Given the description of an element on the screen output the (x, y) to click on. 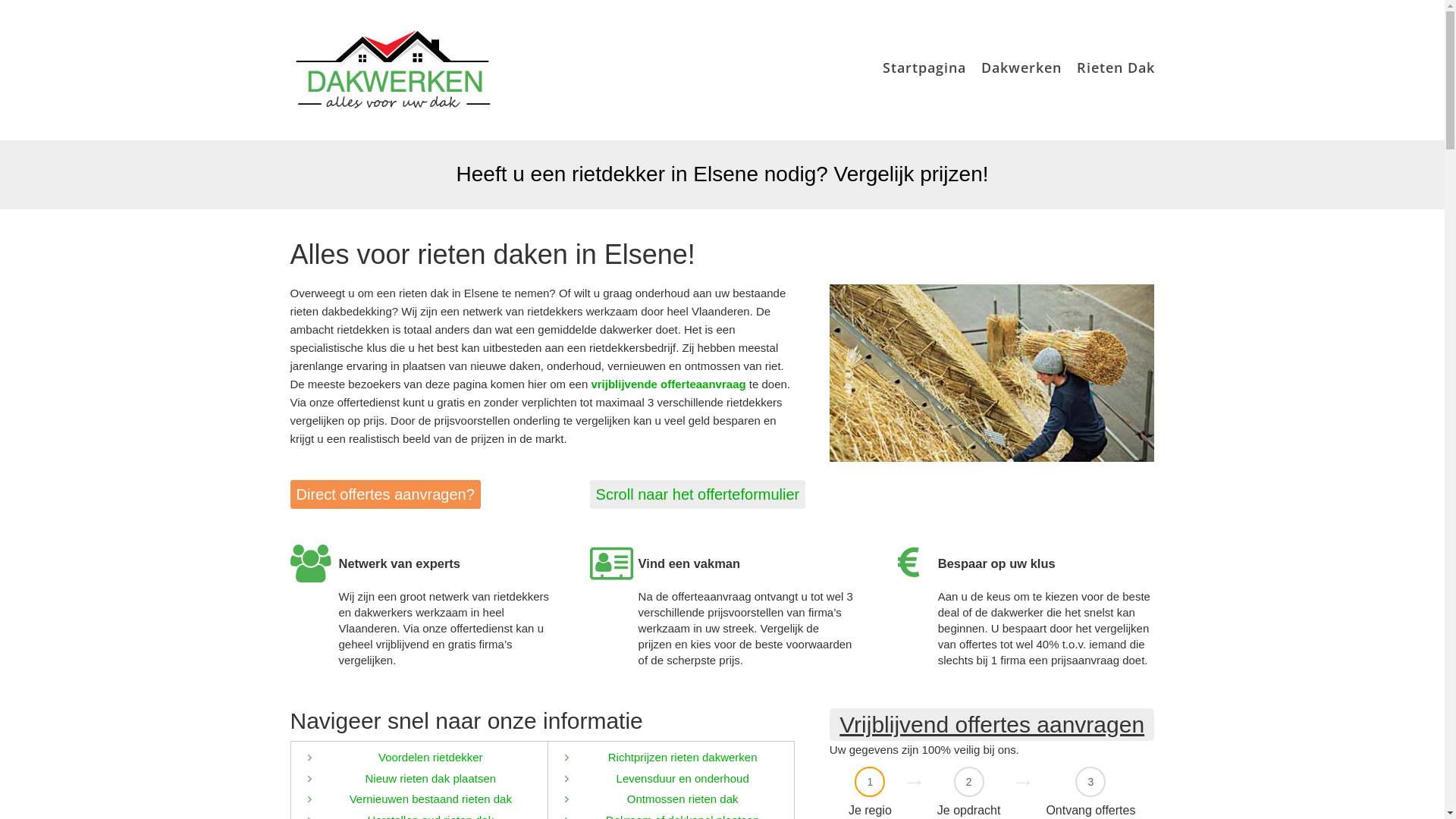
Nieuw rieten dak plaatsen Element type: text (429, 777)
Scroll naar het offerteformulier Element type: text (698, 494)
Dakwerken Element type: text (1021, 67)
Levensduur en onderhoud Element type: text (682, 777)
Vernieuwen bestaand rieten dak Element type: text (430, 798)
Voordelen rietdekker Element type: text (430, 756)
vrijblijvende offerteaanvraag Element type: text (667, 383)
Ontmossen rieten dak Element type: text (682, 798)
Startpagina Element type: text (924, 67)
Rieten Dak Element type: text (1115, 67)
Richtprijzen rieten dakwerken Element type: text (682, 756)
